Given the description of an element on the screen output the (x, y) to click on. 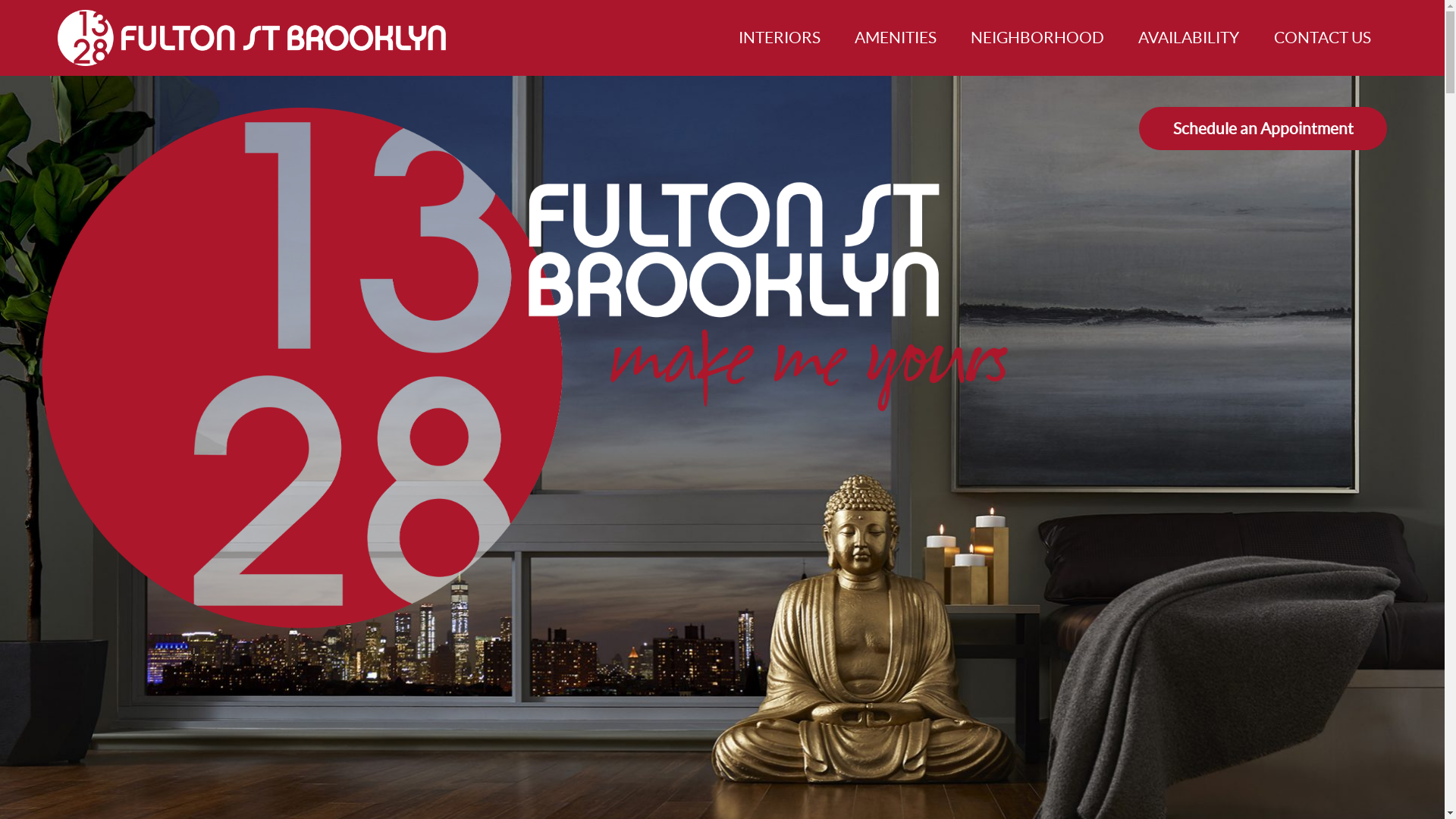
CONTACT US Element type: text (1322, 37)
AVAILABILITY Element type: text (1188, 37)
Schedule an Appointment Element type: text (1262, 128)
AMENITIES Element type: text (895, 37)
NEIGHBORHOOD Element type: text (1037, 37)
